Given the description of an element on the screen output the (x, y) to click on. 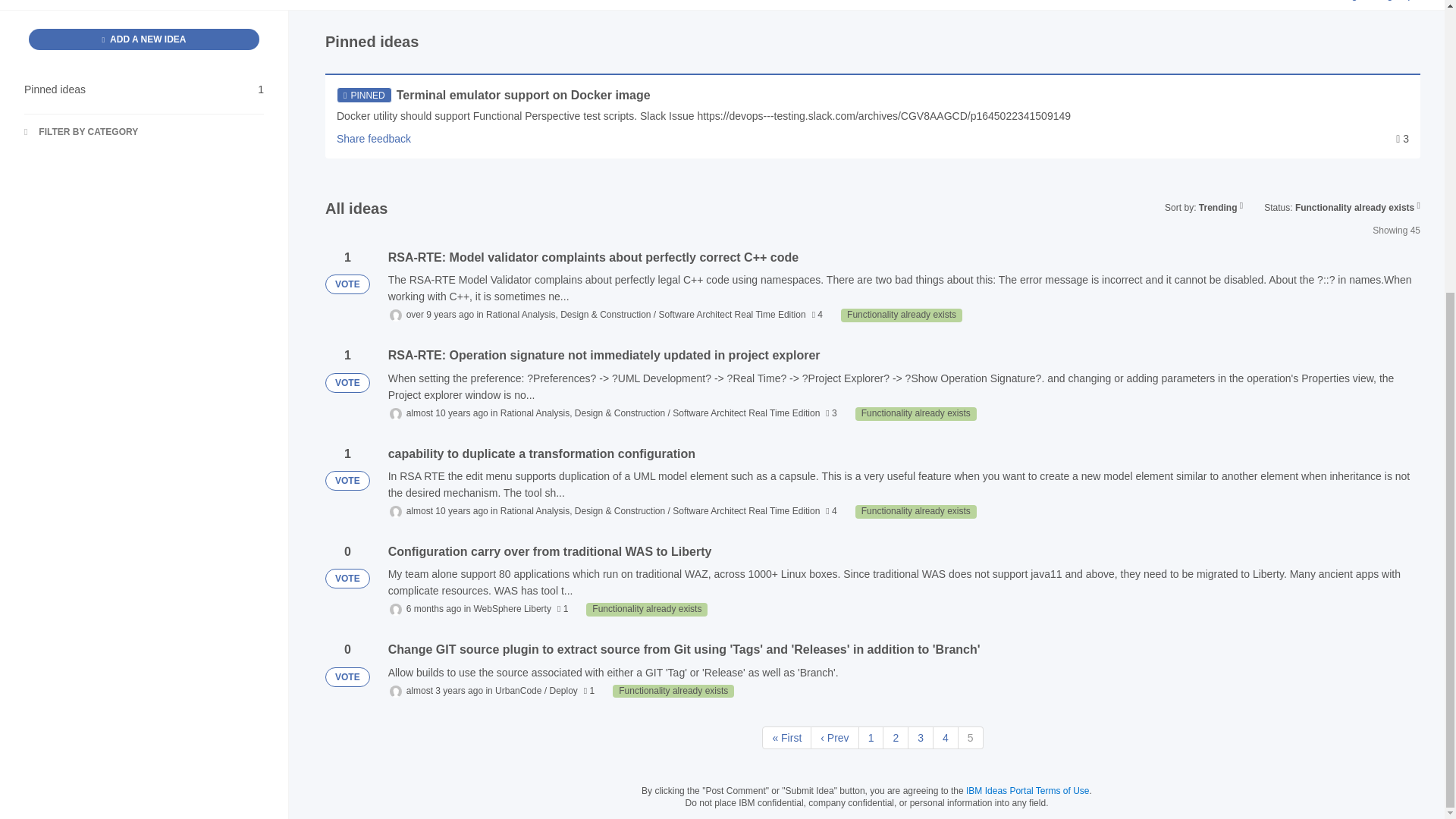
Functionality already exists (916, 413)
Functionality already exists (916, 511)
Functionality already exists (646, 609)
ADD A NEW IDEA (143, 88)
Functionality already exists (144, 38)
Functionality already exists (672, 691)
FILTER BY CATEGORY (901, 315)
